Given the description of an element on the screen output the (x, y) to click on. 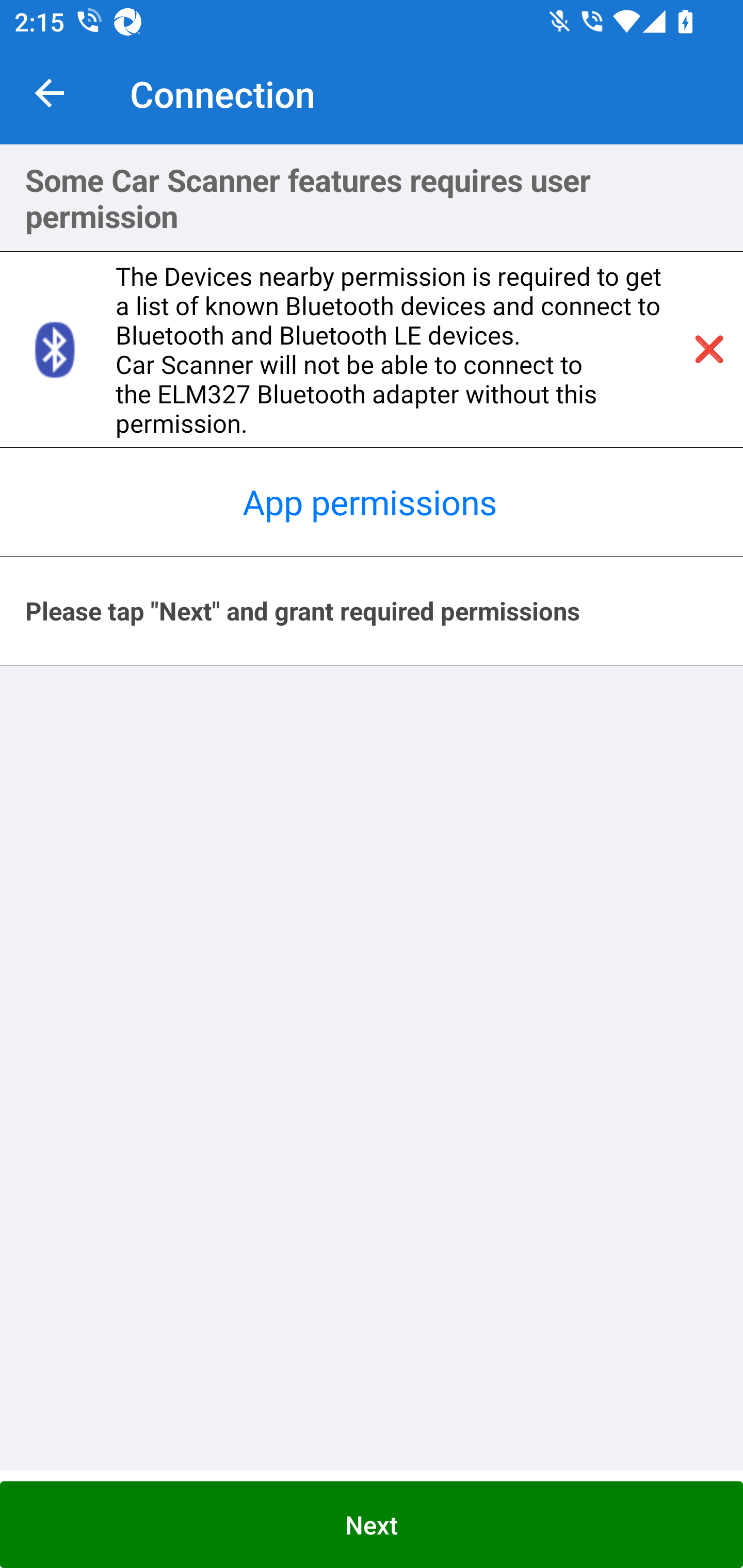
App permissions (371, 502)
Please tap "Next" and grant required permissions (371, 610)
Next (371, 1524)
